Given the description of an element on the screen output the (x, y) to click on. 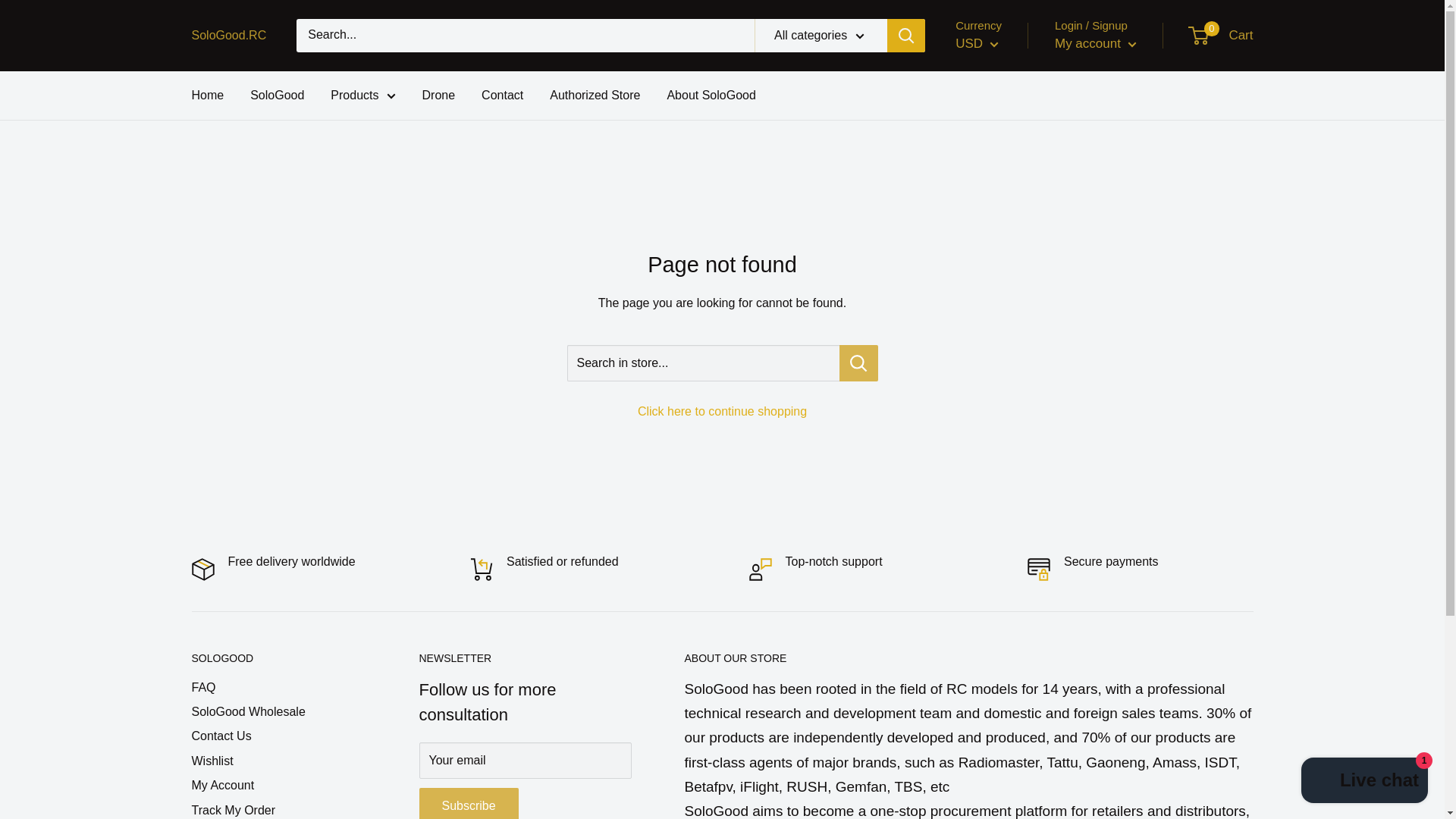
Shopify online store chat (1364, 781)
SoloGood.RC (228, 35)
USD (976, 43)
